Given the description of an element on the screen output the (x, y) to click on. 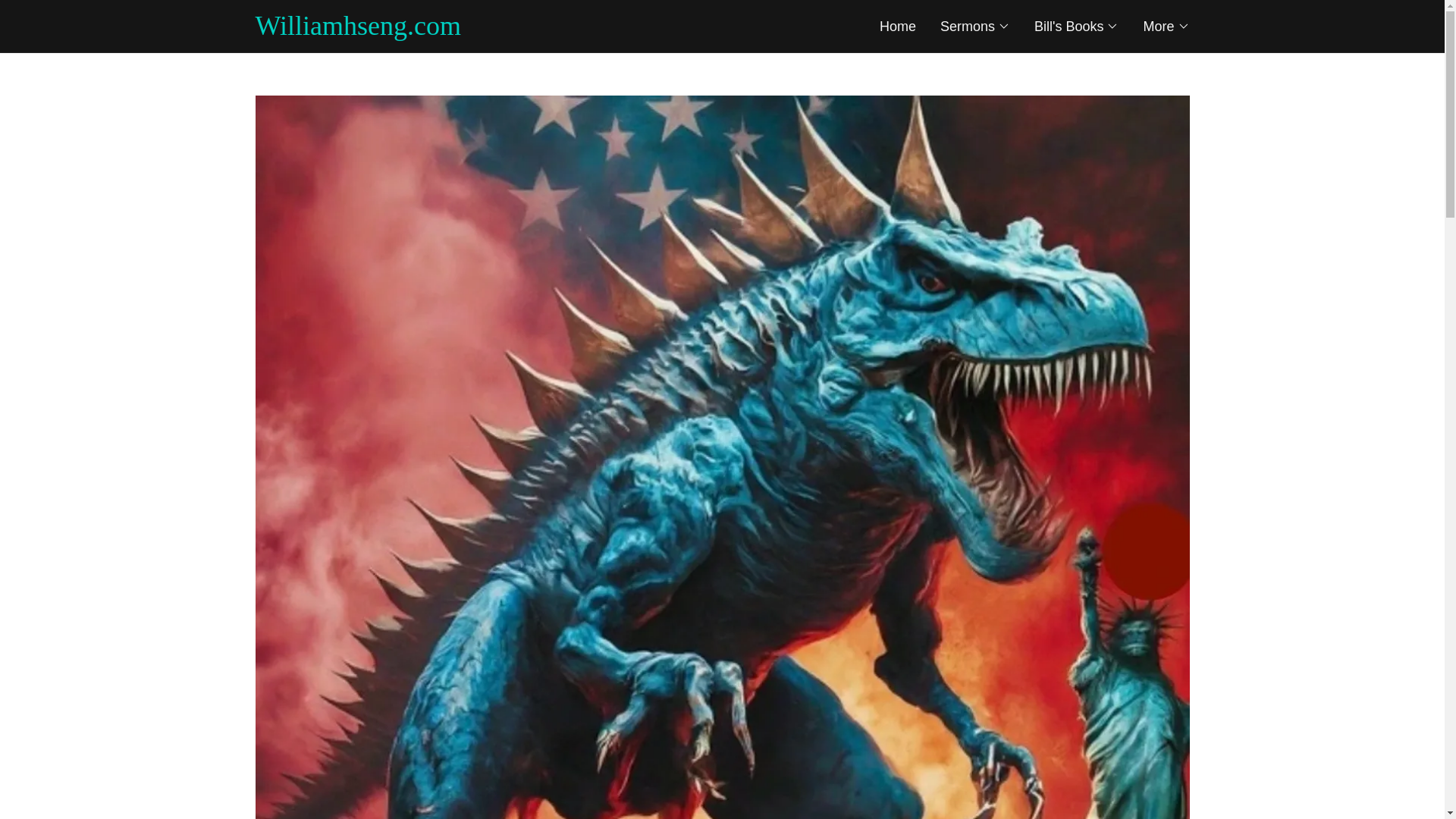
More (1165, 25)
Home (897, 25)
Williamhseng.com (488, 29)
Sermons (975, 25)
Bill's Books (1075, 25)
Williamhseng.com (488, 29)
